Given the description of an element on the screen output the (x, y) to click on. 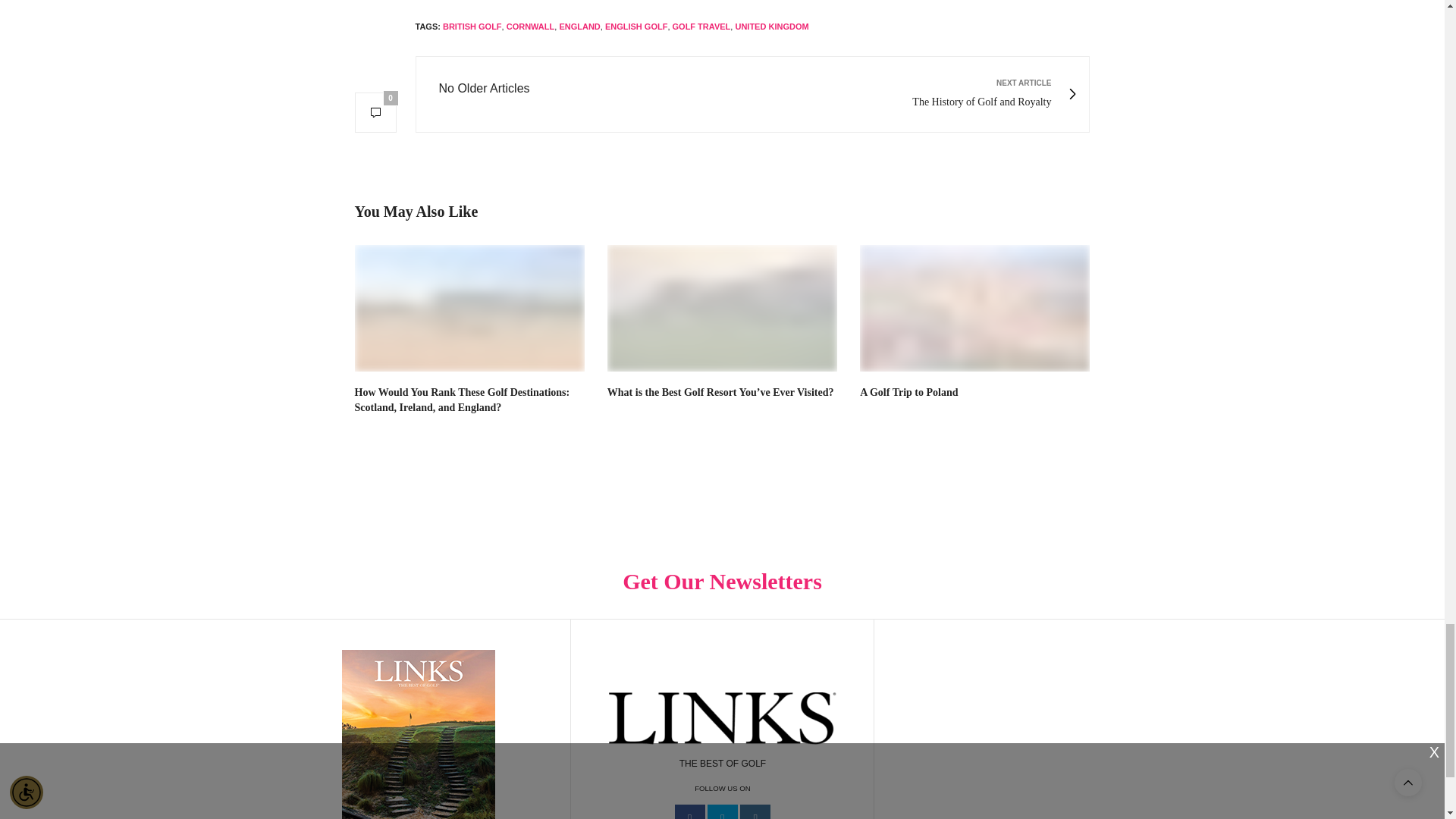
3rd party ad content (1026, 740)
